Given the description of an element on the screen output the (x, y) to click on. 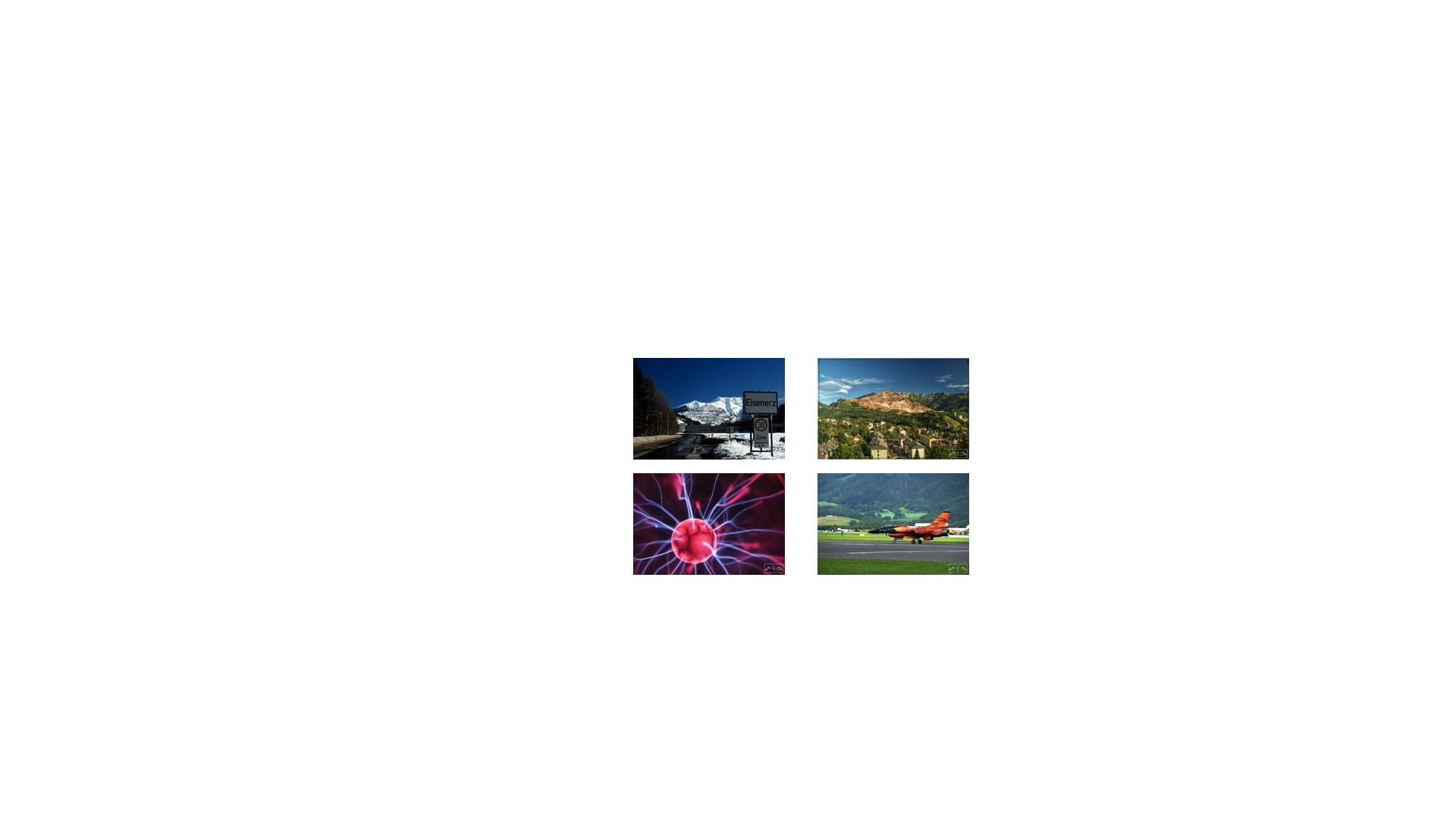
HDR Element type: hover (893, 408)
Airpower 2009 Element type: hover (893, 523)
CSS Element type: text (706, 608)
HTML5 Element type: text (679, 608)
Miscellaneous Element type: hover (708, 523)
Landscapes Element type: hover (708, 408)
